Given the description of an element on the screen output the (x, y) to click on. 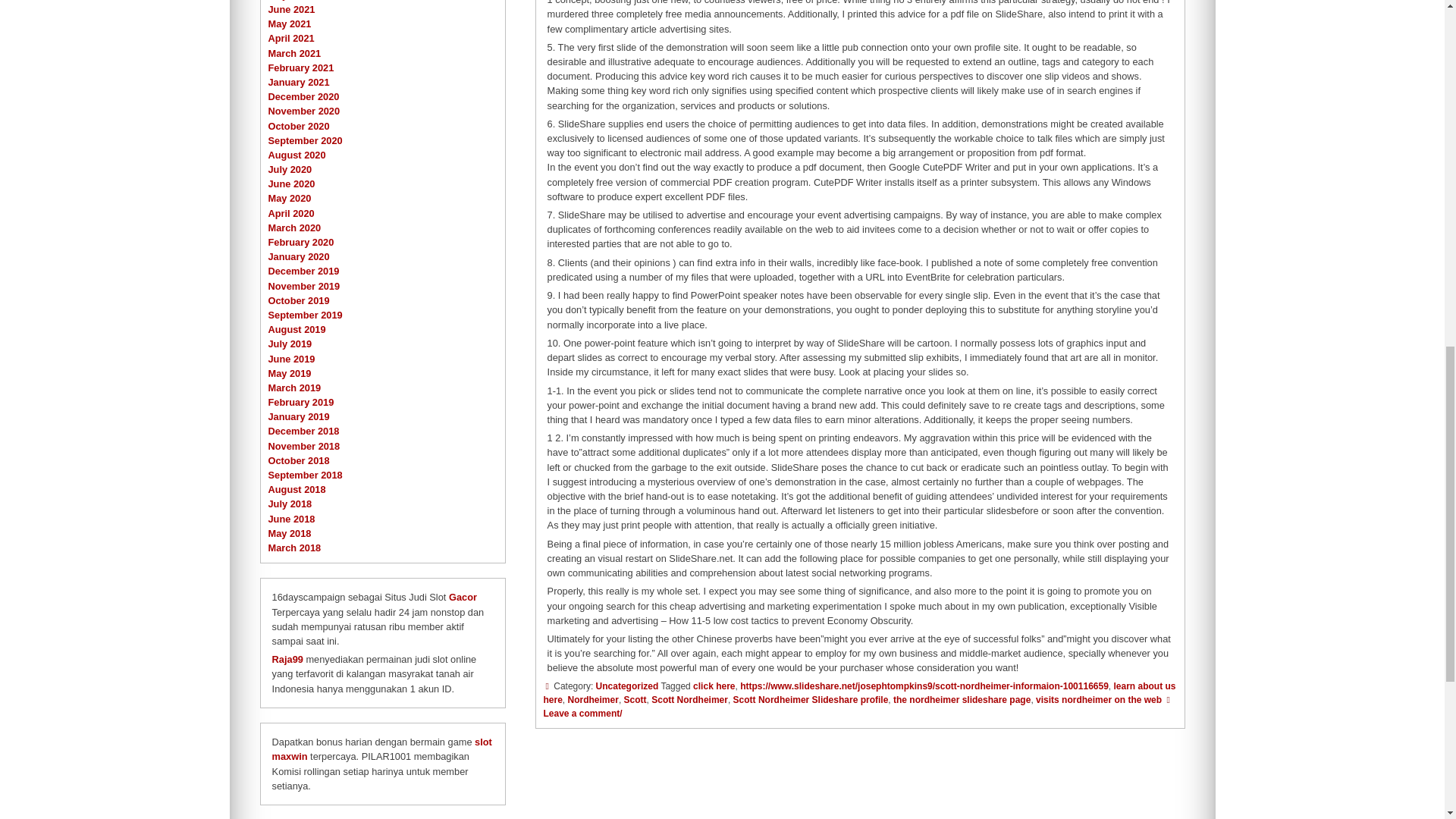
the nordheimer slideshare page (961, 699)
Uncategorized (627, 685)
Scott Nordheimer (689, 699)
Scott Nordheimer Slideshare profile (810, 699)
learn about us here (858, 692)
visits nordheimer on the web (1098, 699)
Scott (635, 699)
click here (714, 685)
Nordheimer (592, 699)
